Given the description of an element on the screen output the (x, y) to click on. 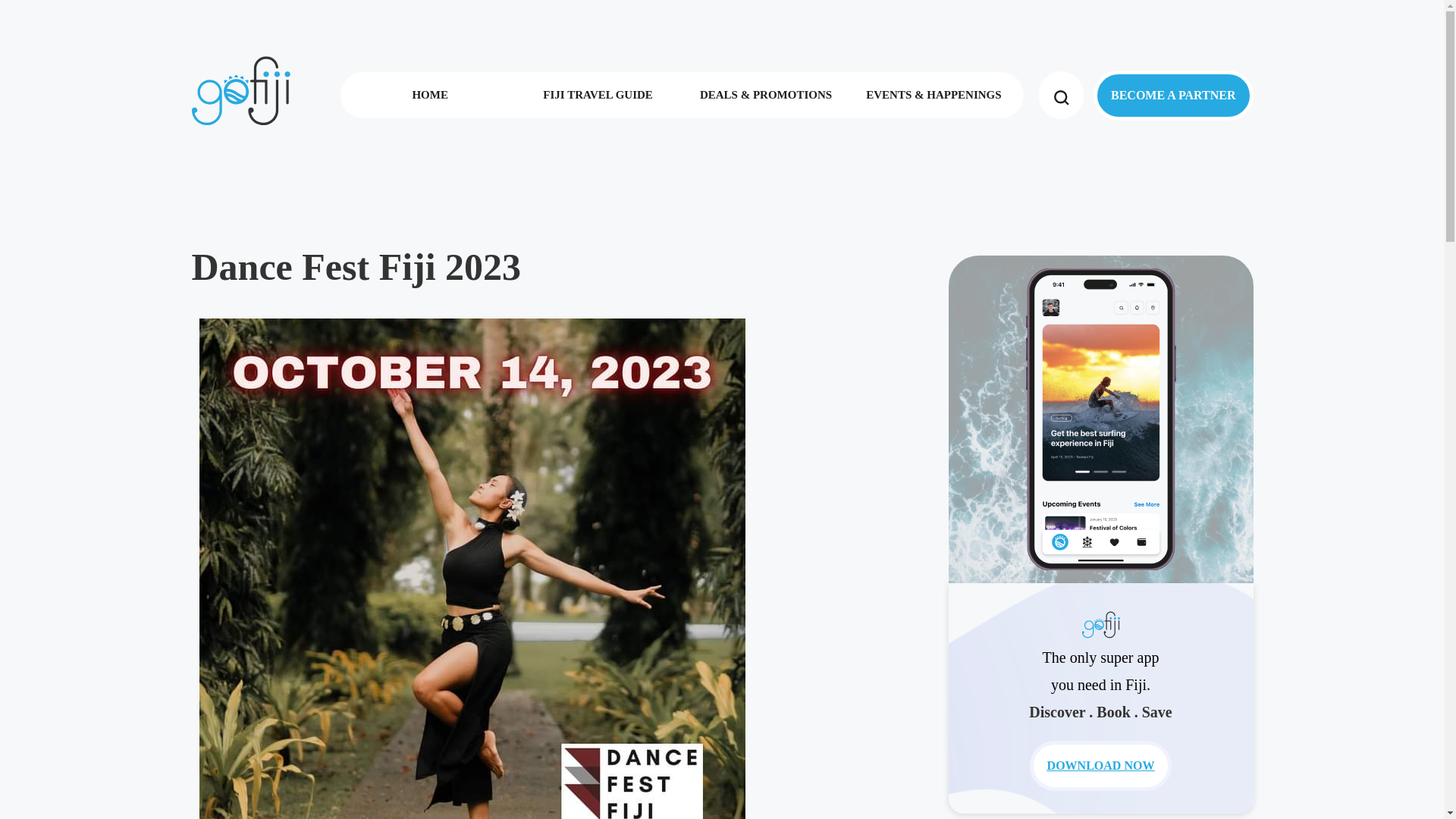
DOWNLOAD NOW (1100, 766)
BECOME A PARTNER (1173, 94)
HOME (429, 94)
FIJI TRAVEL GUIDE (597, 94)
